Given the description of an element on the screen output the (x, y) to click on. 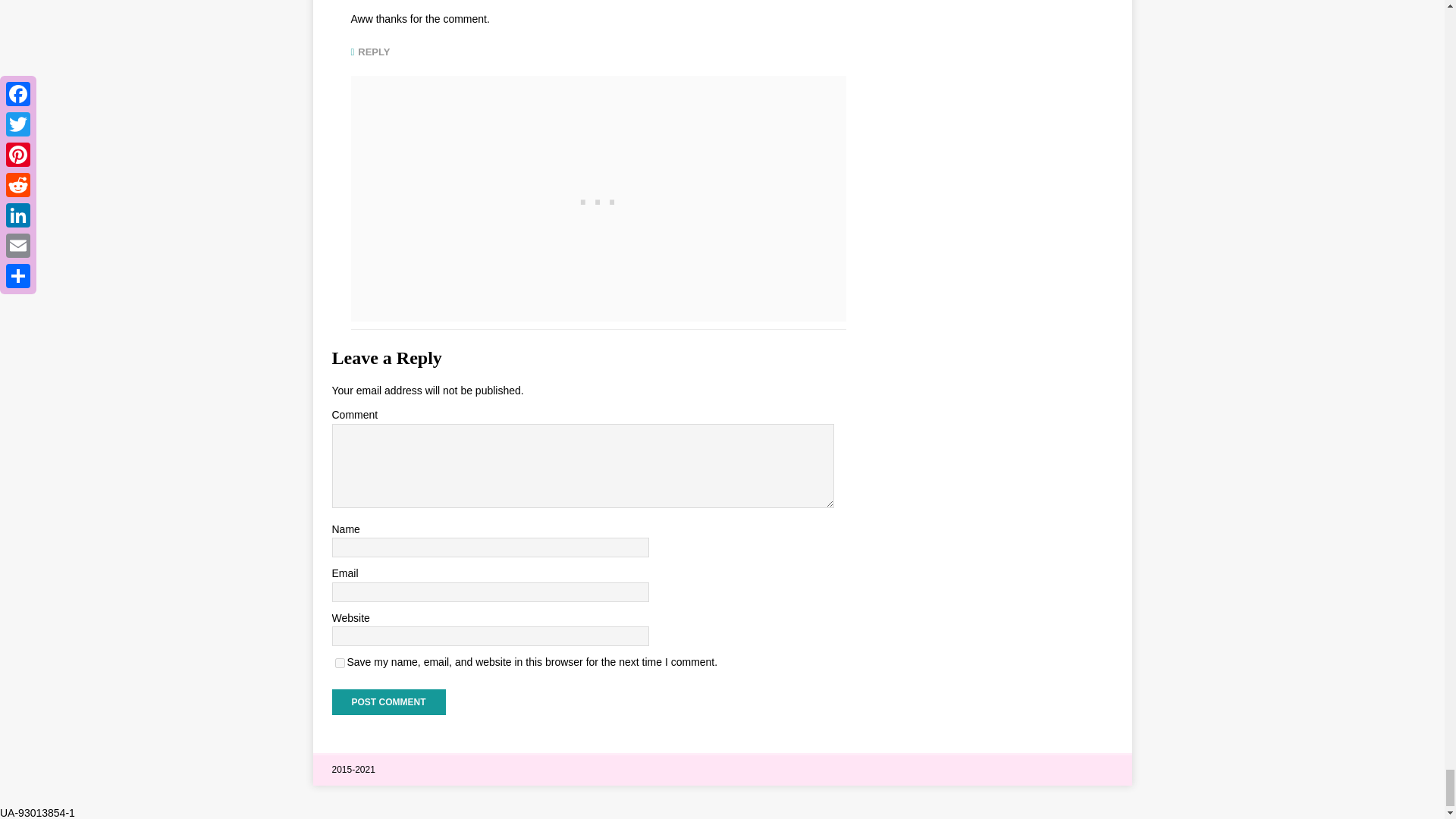
Post Comment (388, 701)
yes (339, 663)
